Given the description of an element on the screen output the (x, y) to click on. 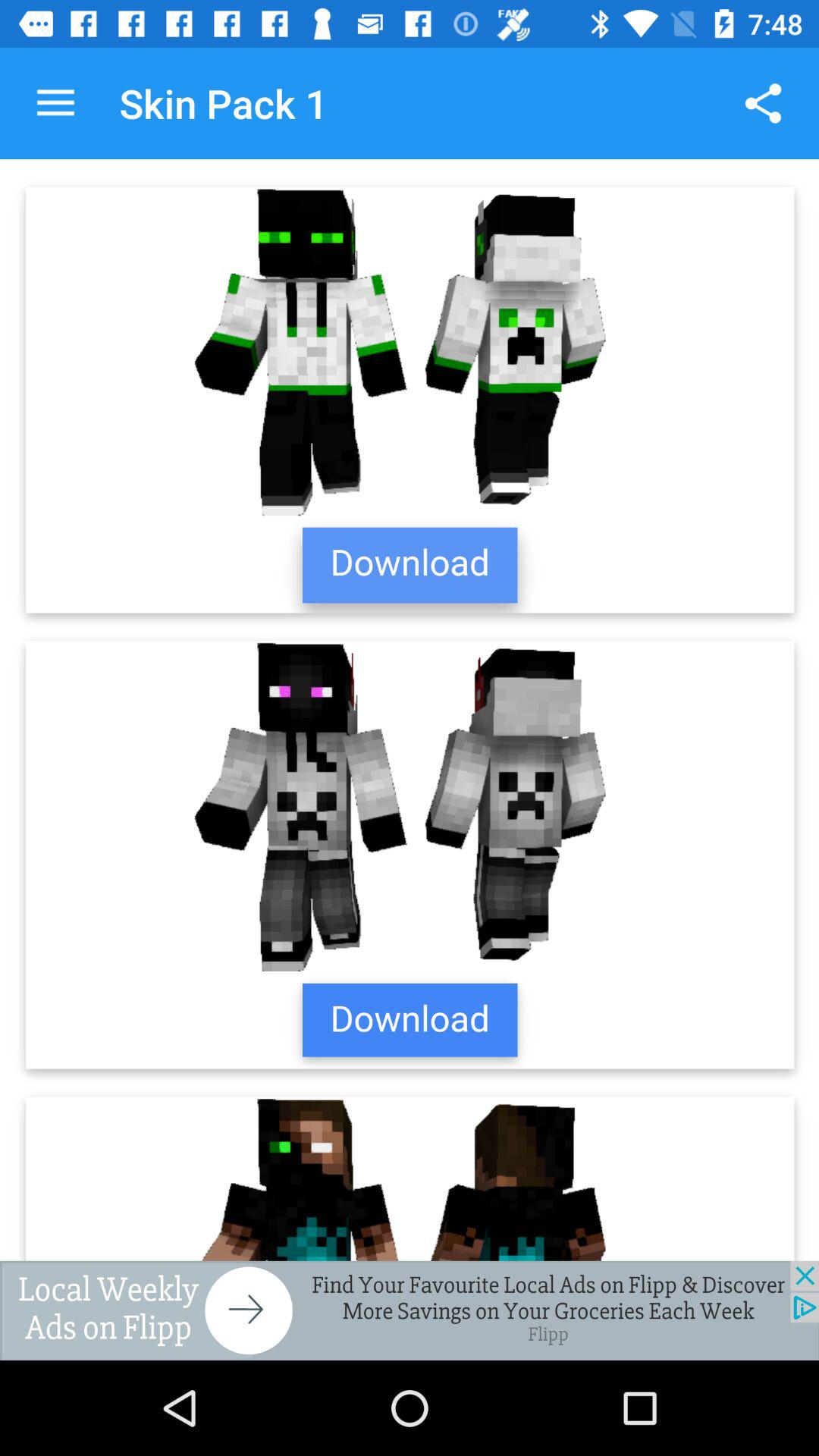
go to advertising partner (409, 1310)
